Given the description of an element on the screen output the (x, y) to click on. 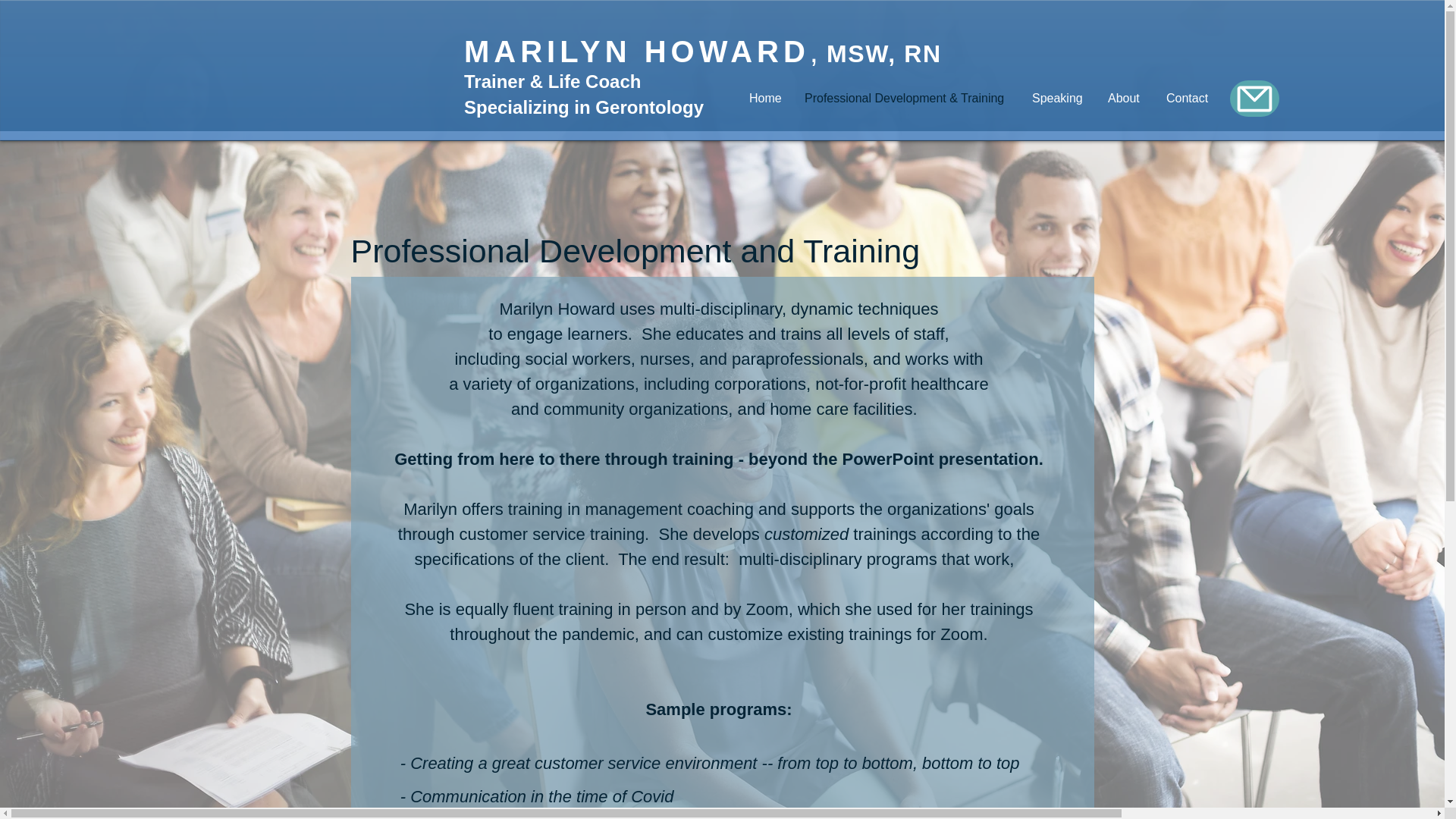
Contact (1189, 98)
About (1125, 98)
Speaking (1058, 98)
Home (765, 98)
